Given the description of an element on the screen output the (x, y) to click on. 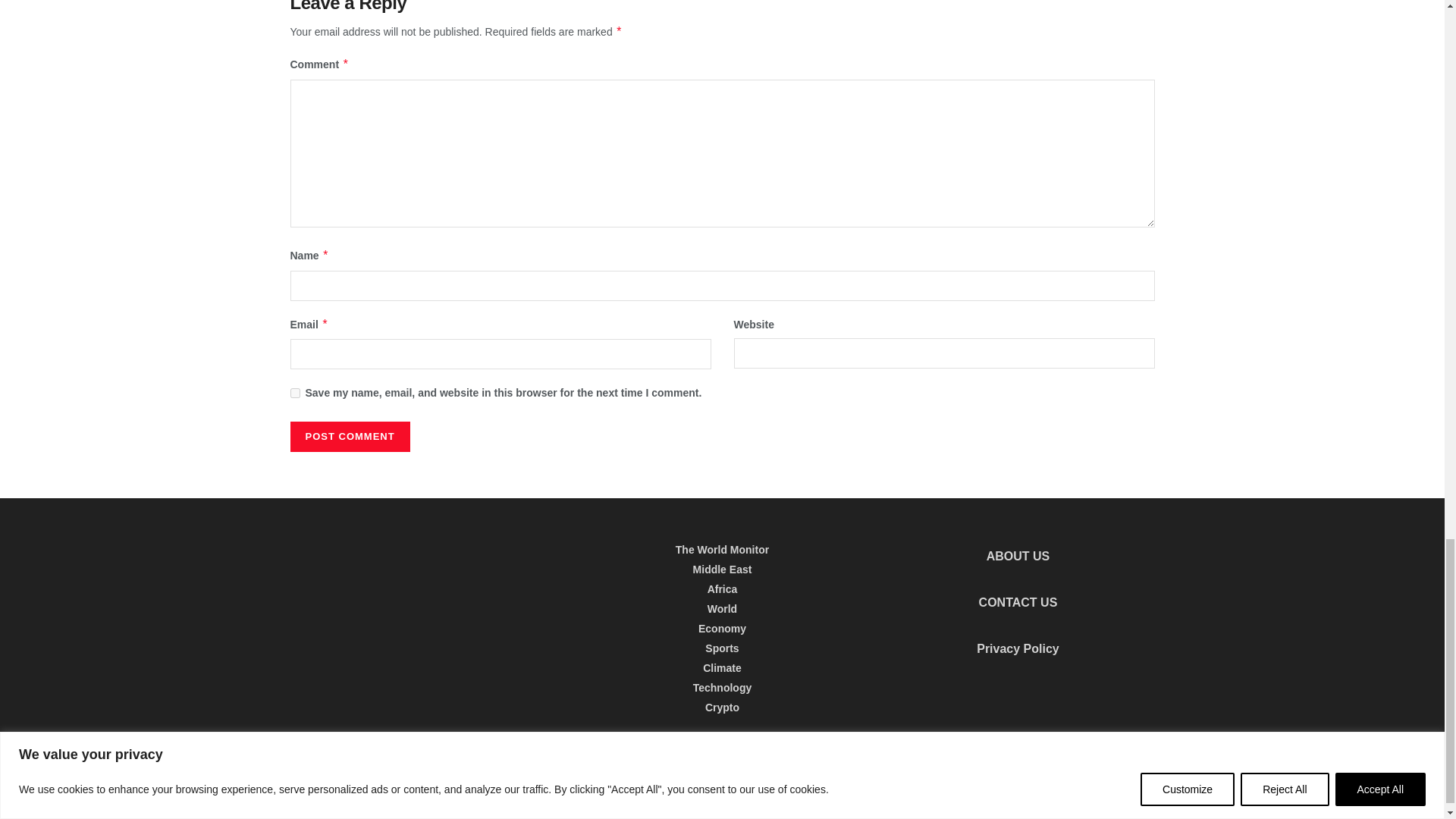
Post Comment (349, 436)
The World Monitor (371, 783)
yes (294, 393)
